Given the description of an element on the screen output the (x, y) to click on. 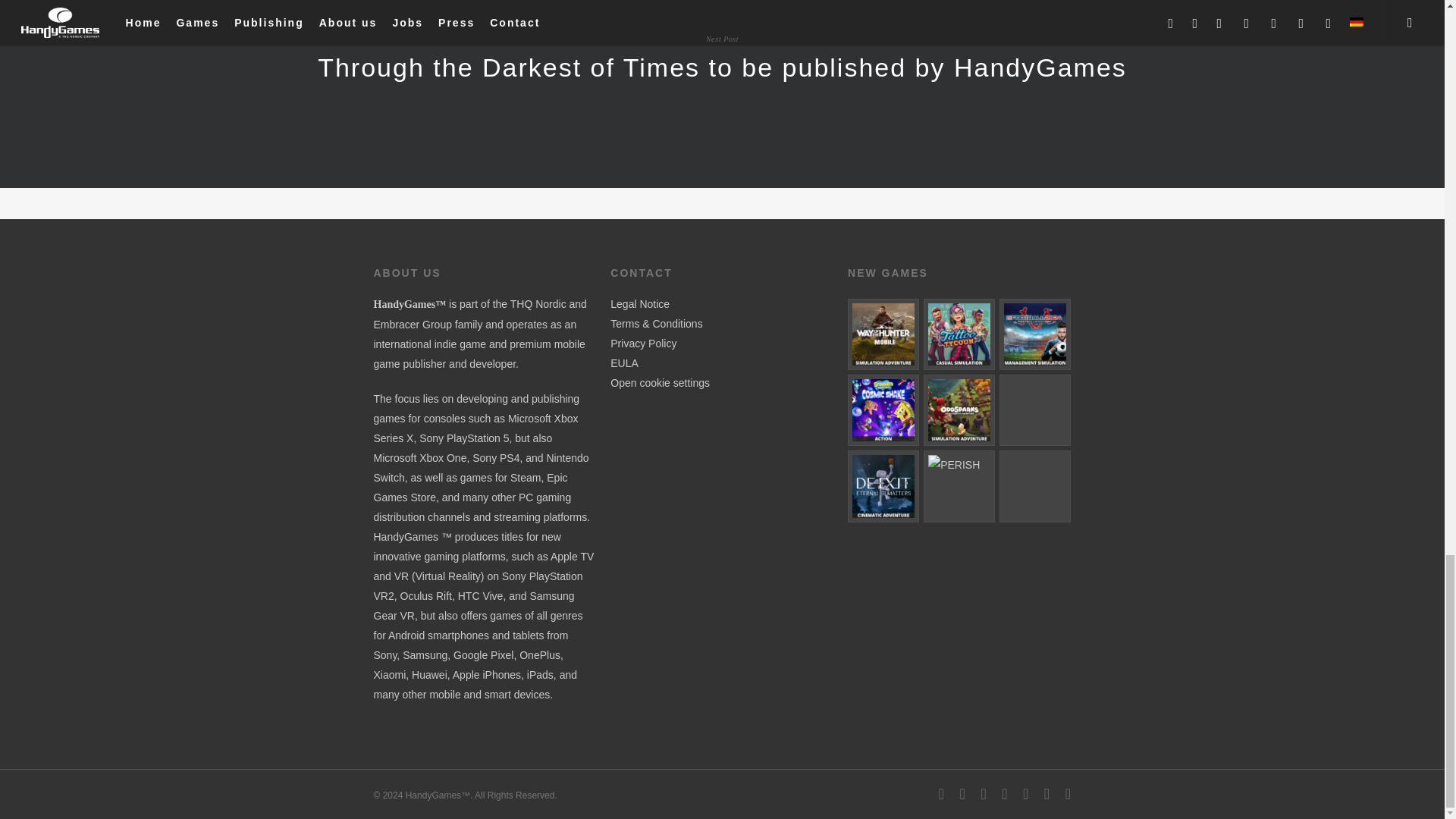
Open Cookie Preferences (660, 382)
PERISH (958, 485)
Way of the Hunter (882, 334)
We Are Football 2024 (1034, 334)
Tattoo Tycoon (958, 334)
Legal Notice (639, 304)
Privacy Policy (643, 343)
SpongeBob SquarePants: The Cosmic Shake (882, 409)
EULA (624, 363)
Airhead (1034, 485)
